Given the description of an element on the screen output the (x, y) to click on. 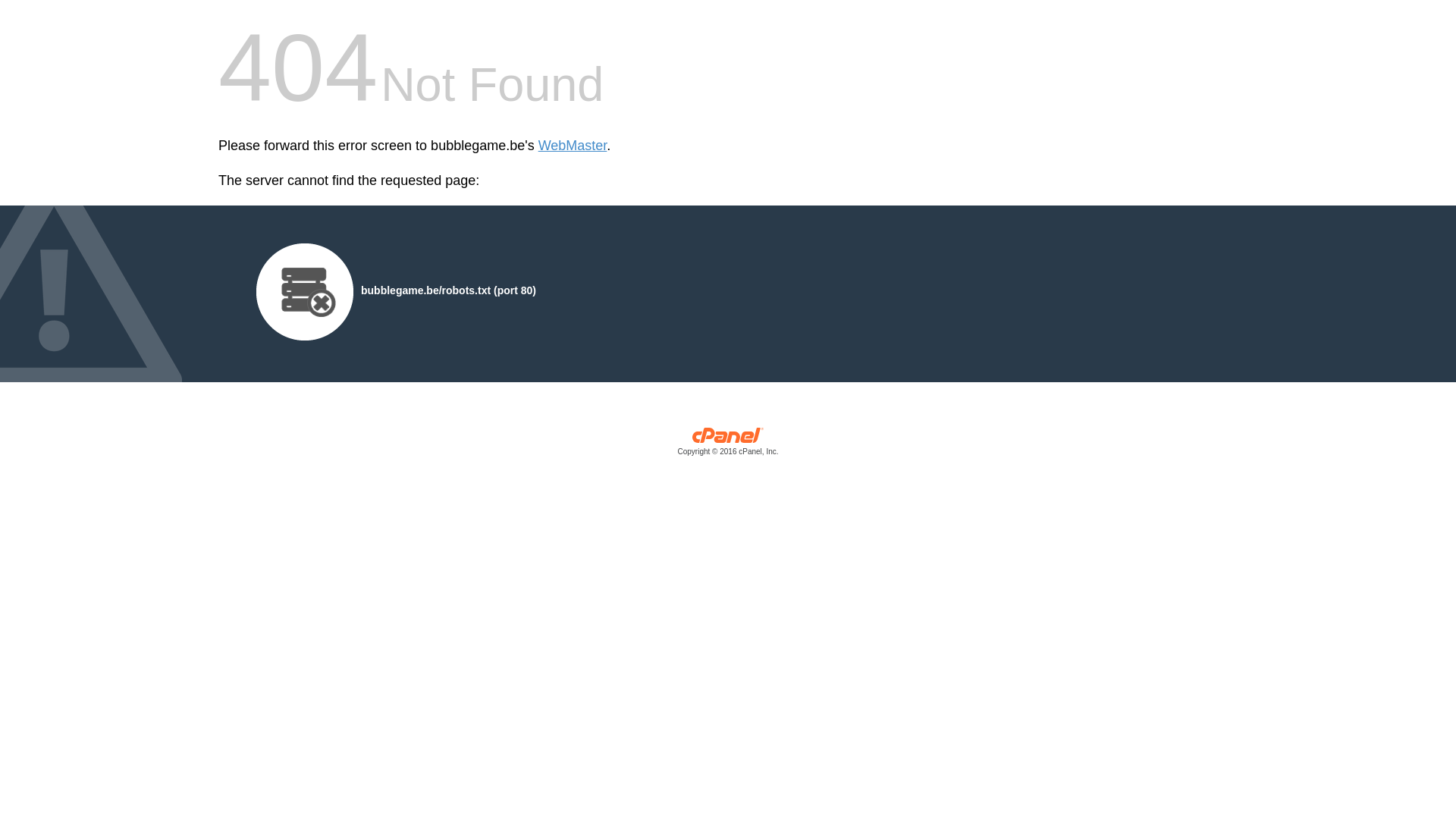
WebMaster Element type: text (572, 145)
